Given the description of an element on the screen output the (x, y) to click on. 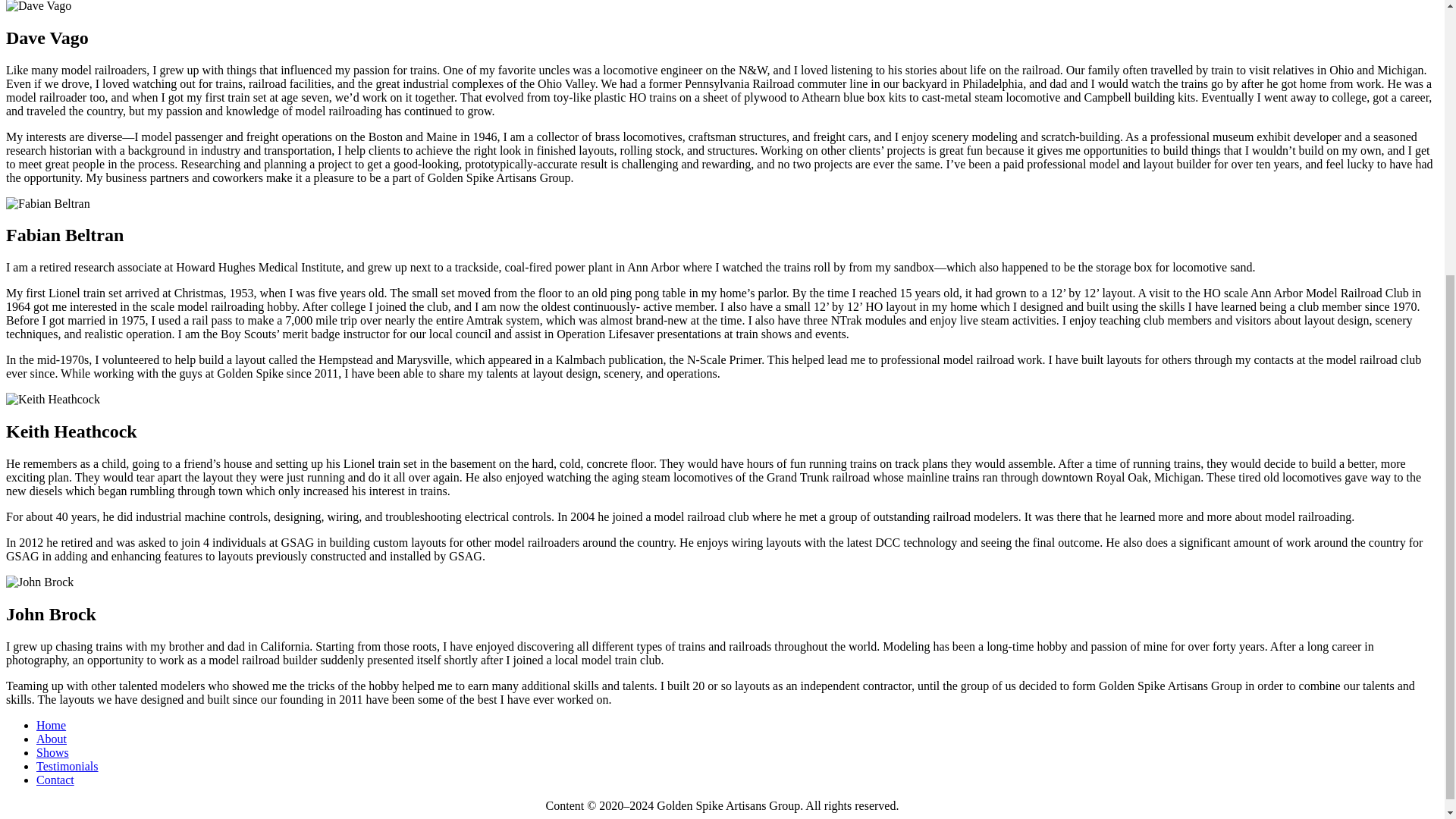
Home (50, 725)
Shows (52, 752)
Testimonials (67, 766)
Contact (55, 779)
About (51, 738)
